Given the description of an element on the screen output the (x, y) to click on. 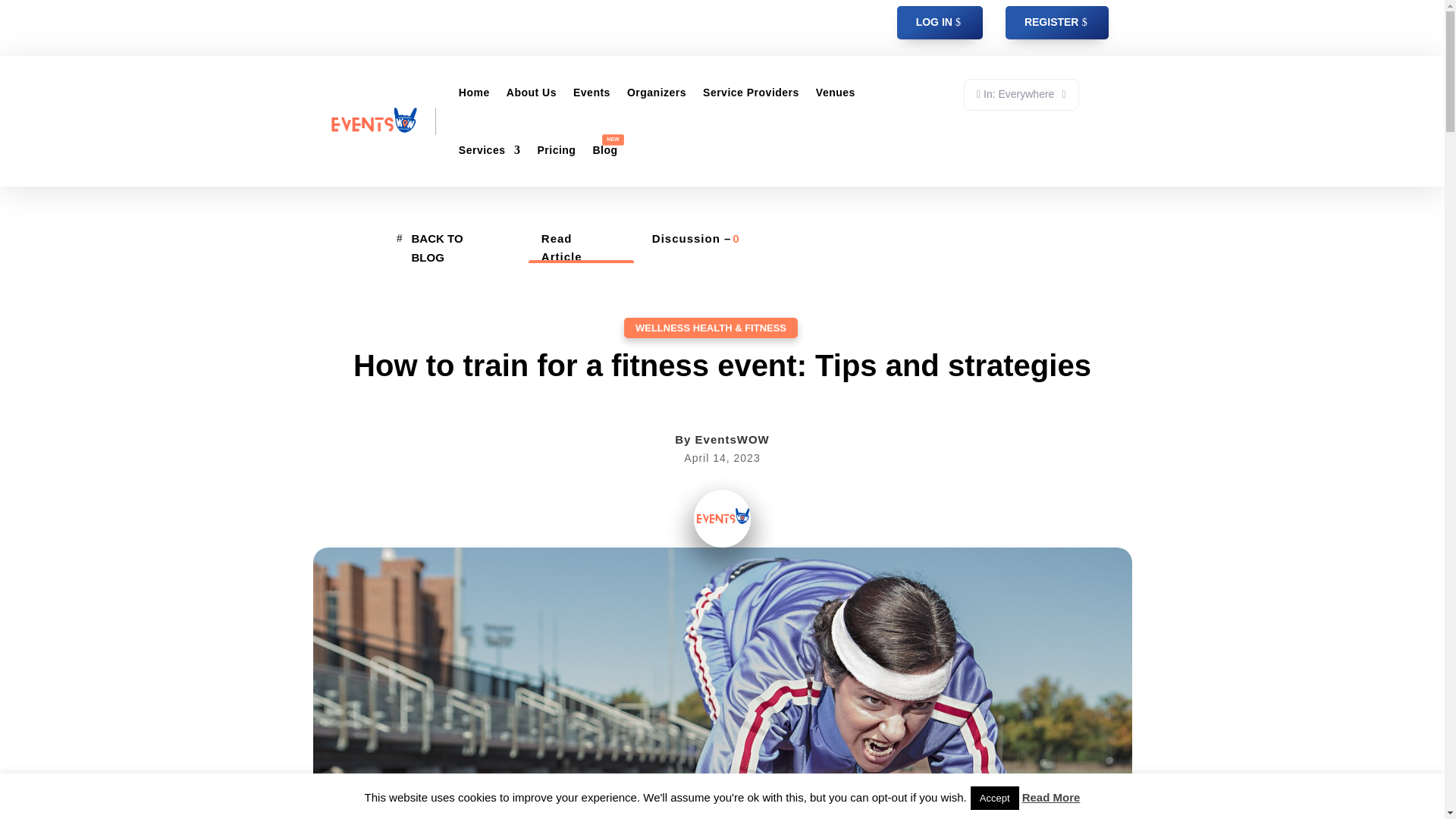
Organizers (656, 92)
REGISTER (1057, 22)
Add Event (339, 24)
Add Service Provider (366, 47)
Add Organizer (488, 24)
Add Venue (408, 24)
Service Providers (751, 92)
Change Location (1020, 94)
LOG IN (939, 22)
Services (489, 150)
